Given the description of an element on the screen output the (x, y) to click on. 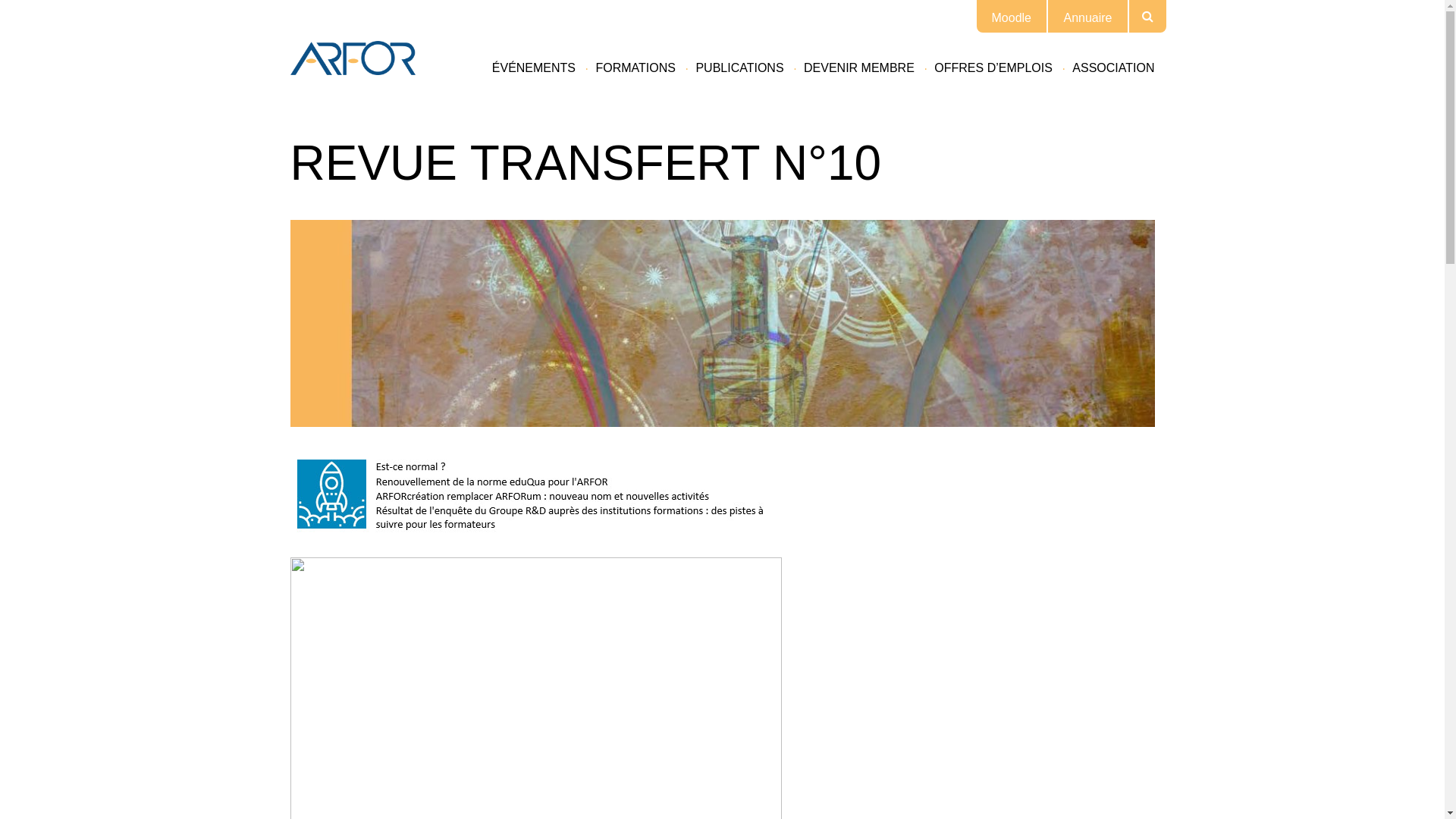
FORMATIONS Element type: text (634, 68)
Moodle Element type: text (1011, 17)
Annuaire Element type: text (1087, 17)
PUBLICATIONS Element type: text (739, 68)
ASSOCIATION Element type: text (1113, 68)
DEVENIR MEMBRE Element type: text (858, 68)
